Given the description of an element on the screen output the (x, y) to click on. 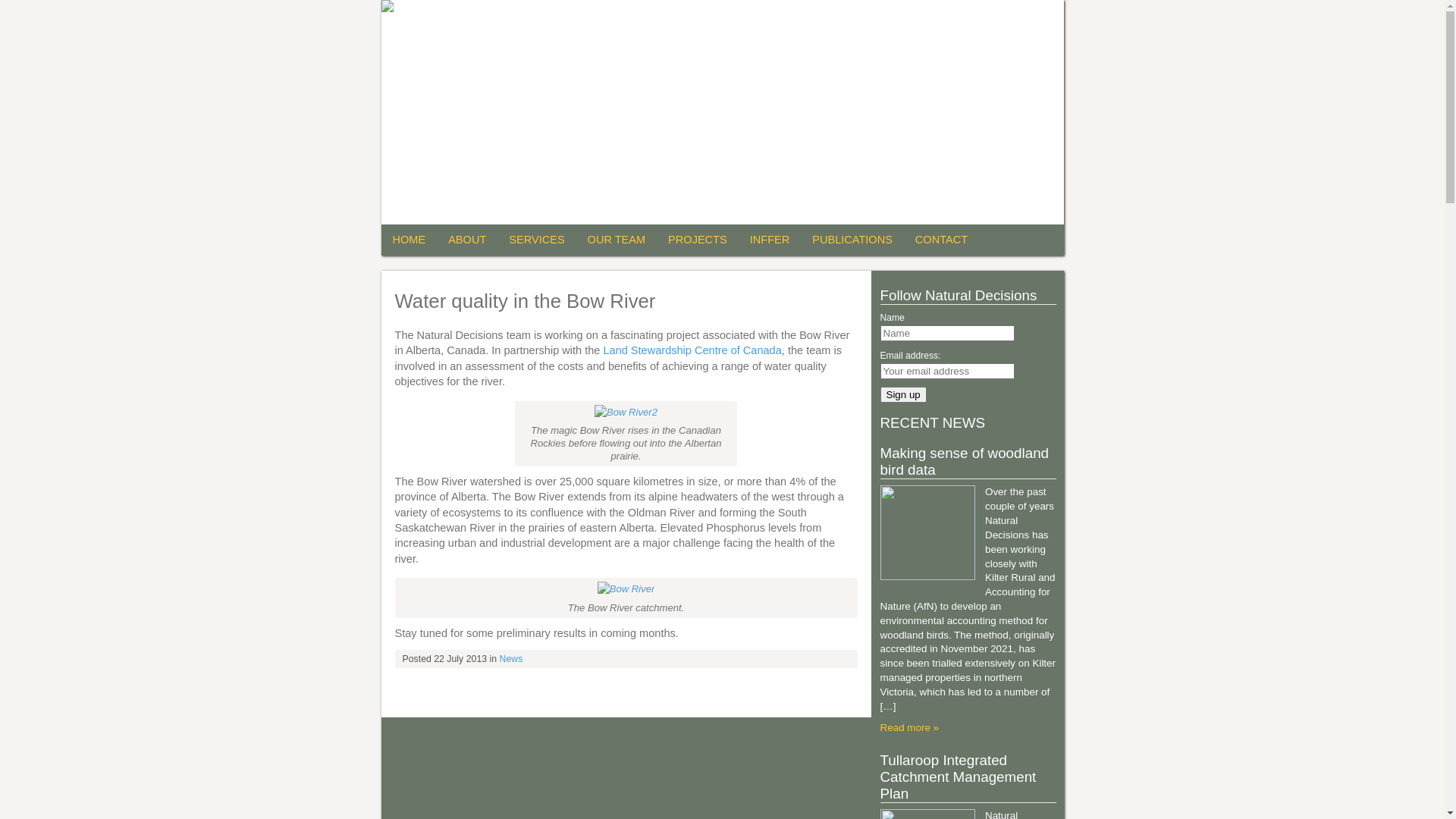
News Element type: text (511, 658)
ABOUT Element type: text (466, 239)
HOME Element type: text (408, 239)
PUBLICATIONS Element type: text (851, 239)
OUR TEAM Element type: text (616, 239)
INFFER Element type: text (769, 239)
Sign up Element type: text (902, 394)
SERVICES Element type: text (536, 239)
PROJECTS Element type: text (697, 239)
Tullaroop Integrated Catchment Management Plan Element type: text (957, 776)
Land Stewardship Centre of Canada Element type: text (691, 350)
CONTACT Element type: text (941, 239)
Making sense of woodland bird data Element type: text (963, 461)
